Given the description of an element on the screen output the (x, y) to click on. 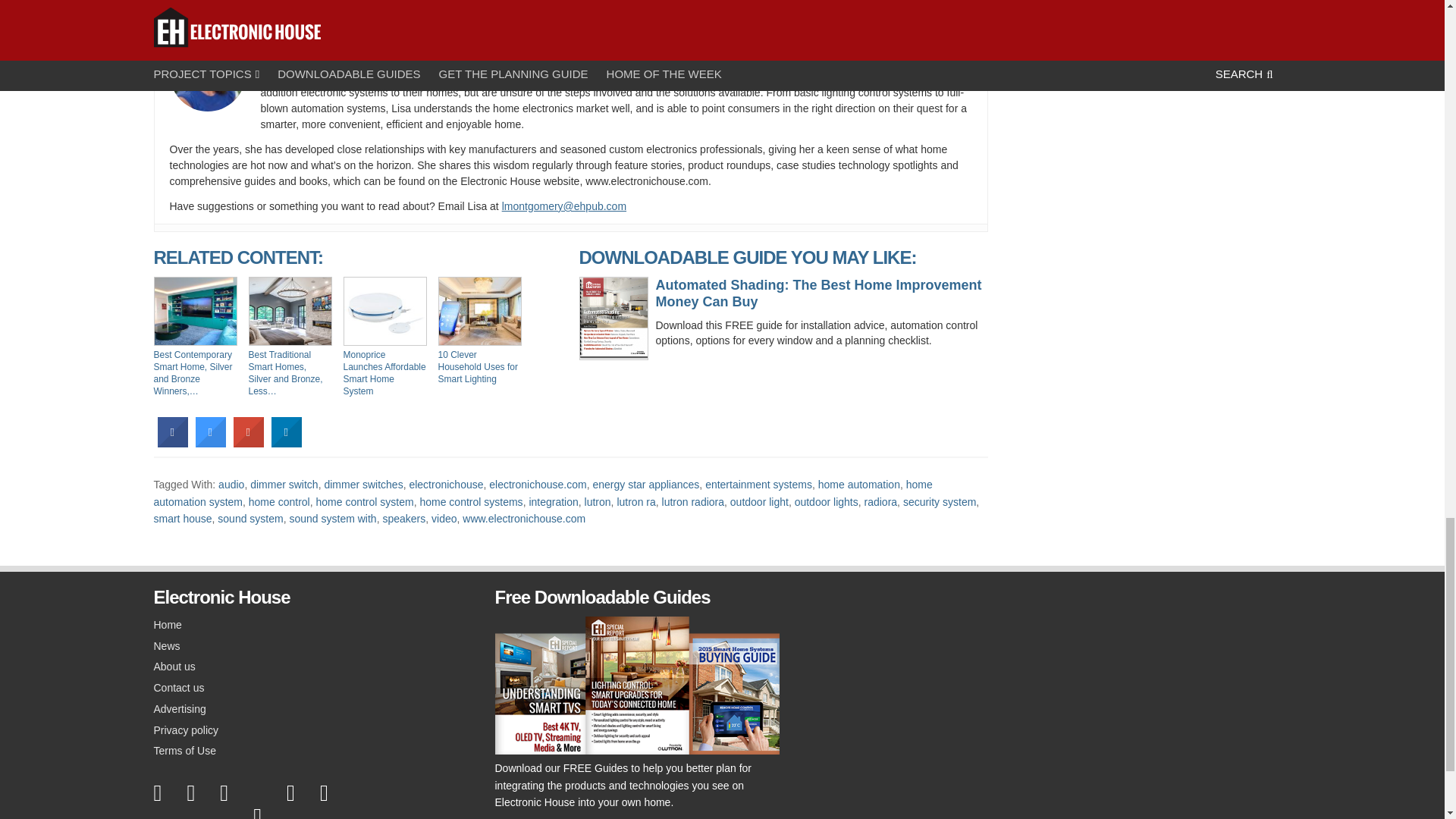
Share to LinkedIn (285, 442)
Share to Facebook (172, 442)
Share to Twitter (210, 442)
Automated Shading: The Best Home Improvement Money Can Buy (783, 293)
Share to Google Plus (247, 442)
